Given the description of an element on the screen output the (x, y) to click on. 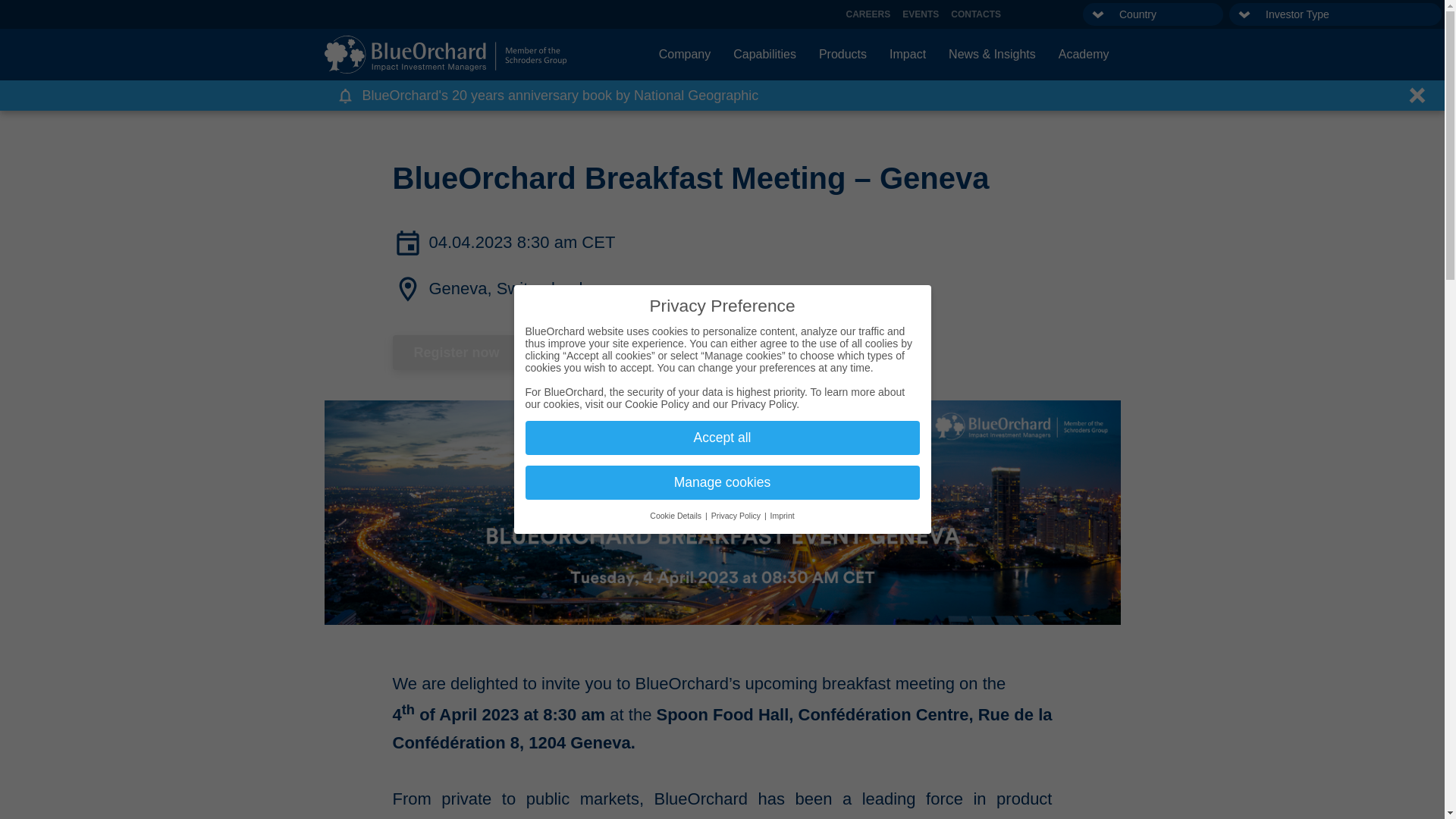
EVENTS (920, 13)
Register now (457, 352)
Capabilities (765, 54)
Academy (1083, 54)
CAREERS (868, 13)
Company (684, 54)
Products (842, 54)
Impact (907, 54)
CONTACTS (975, 13)
